Given the description of an element on the screen output the (x, y) to click on. 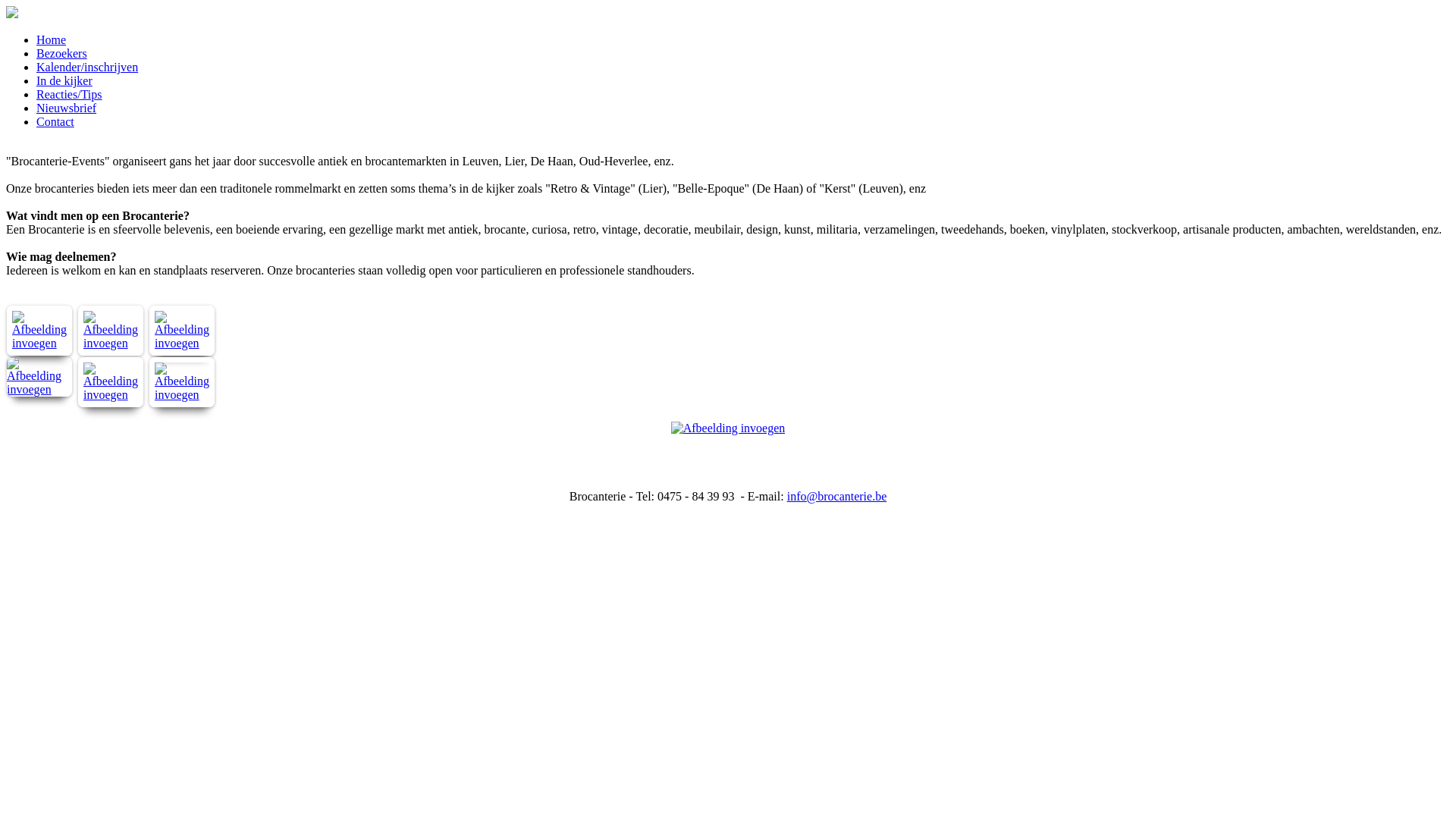
Reacties/Tips Element type: text (69, 93)
In de kijker Element type: text (64, 80)
Afbeelding invoegen Element type: hover (181, 394)
Afbeelding invoegen Element type: hover (181, 342)
Bezoekers Element type: text (61, 53)
Nieuwsbrief Element type: text (66, 107)
Afbeelding invoegen Element type: hover (39, 388)
Home Element type: text (50, 39)
Afbeelding invoegen Element type: hover (110, 342)
info@brocanterie.be Element type: text (837, 495)
Kalender/inschrijven Element type: text (87, 66)
Afbeelding invoegen Element type: hover (110, 394)
Afbeelding invoegen Element type: hover (39, 342)
Contact Element type: text (55, 121)
